Given the description of an element on the screen output the (x, y) to click on. 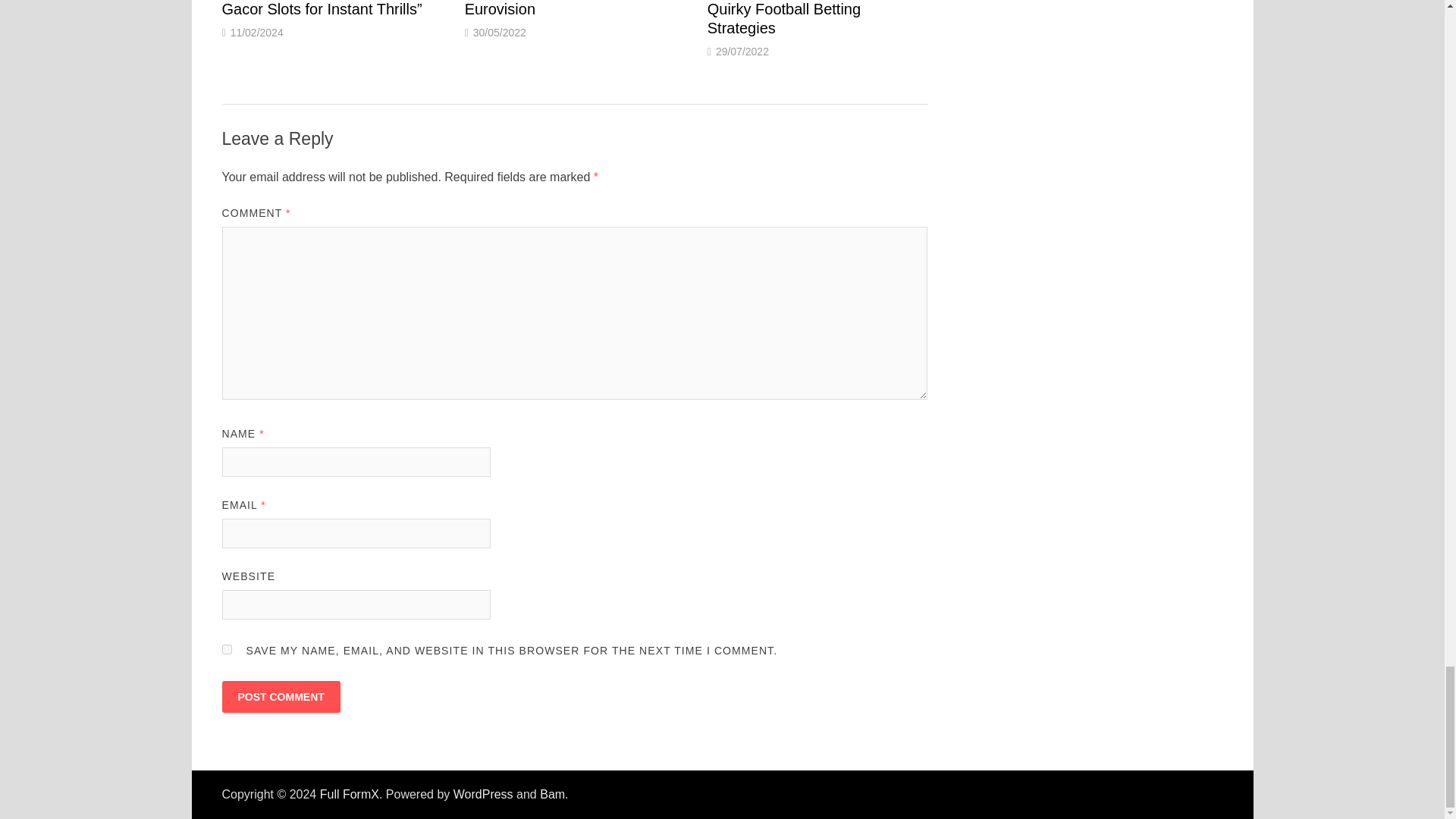
Country That We Missed in Eurovision (555, 8)
yes (226, 649)
Full FormX (349, 793)
Post Comment (280, 696)
